Given the description of an element on the screen output the (x, y) to click on. 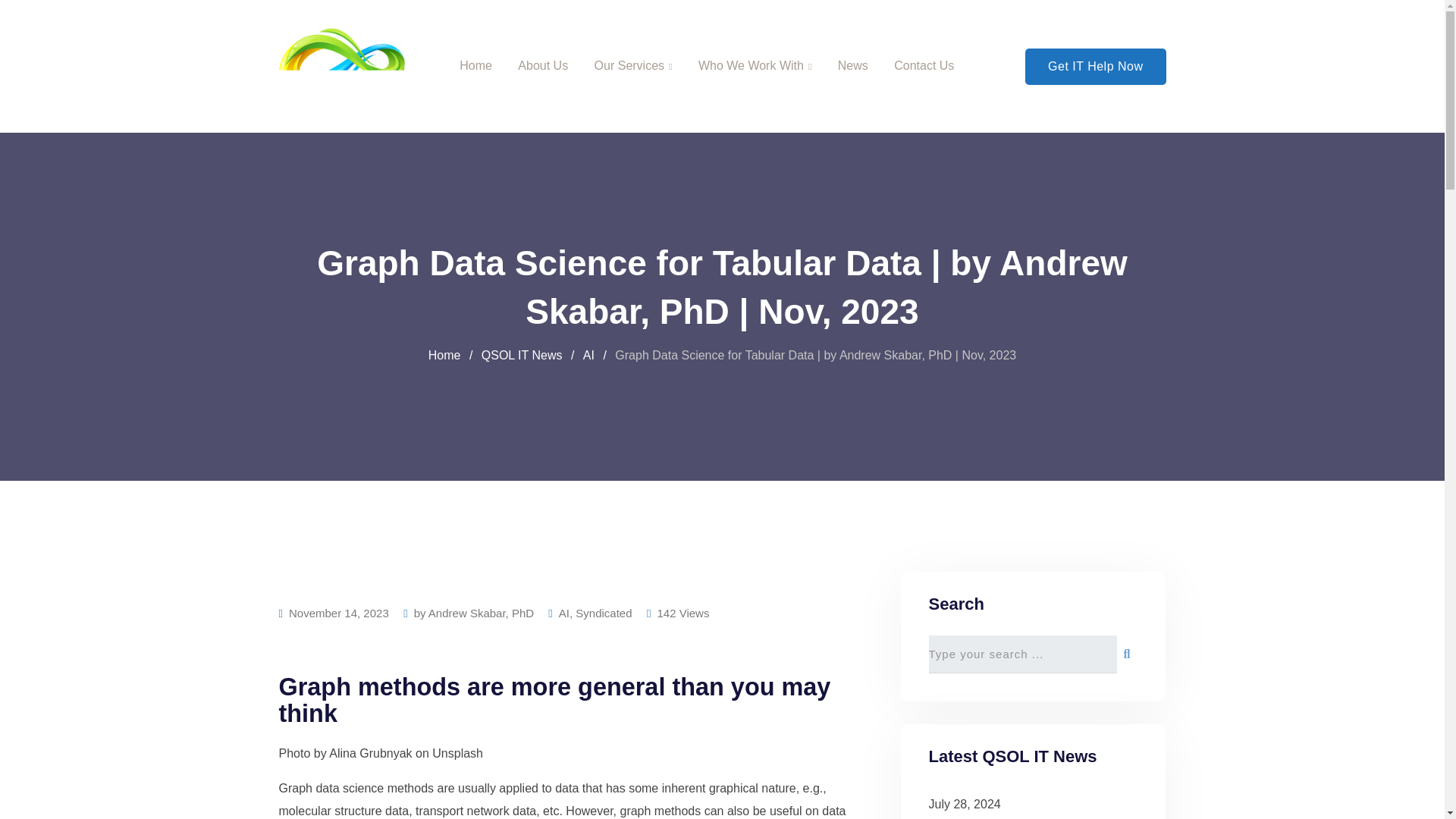
Go to QSOL IT. (444, 354)
Posts by Andrew Skabar, PhD (481, 612)
Go to QSOL IT News. (521, 354)
Home (444, 354)
Andrew Skabar, PhD (481, 612)
QSOL IT News (521, 354)
Our Services (633, 65)
Who We Work With (754, 65)
Get IT Help Now (1095, 66)
